Given the description of an element on the screen output the (x, y) to click on. 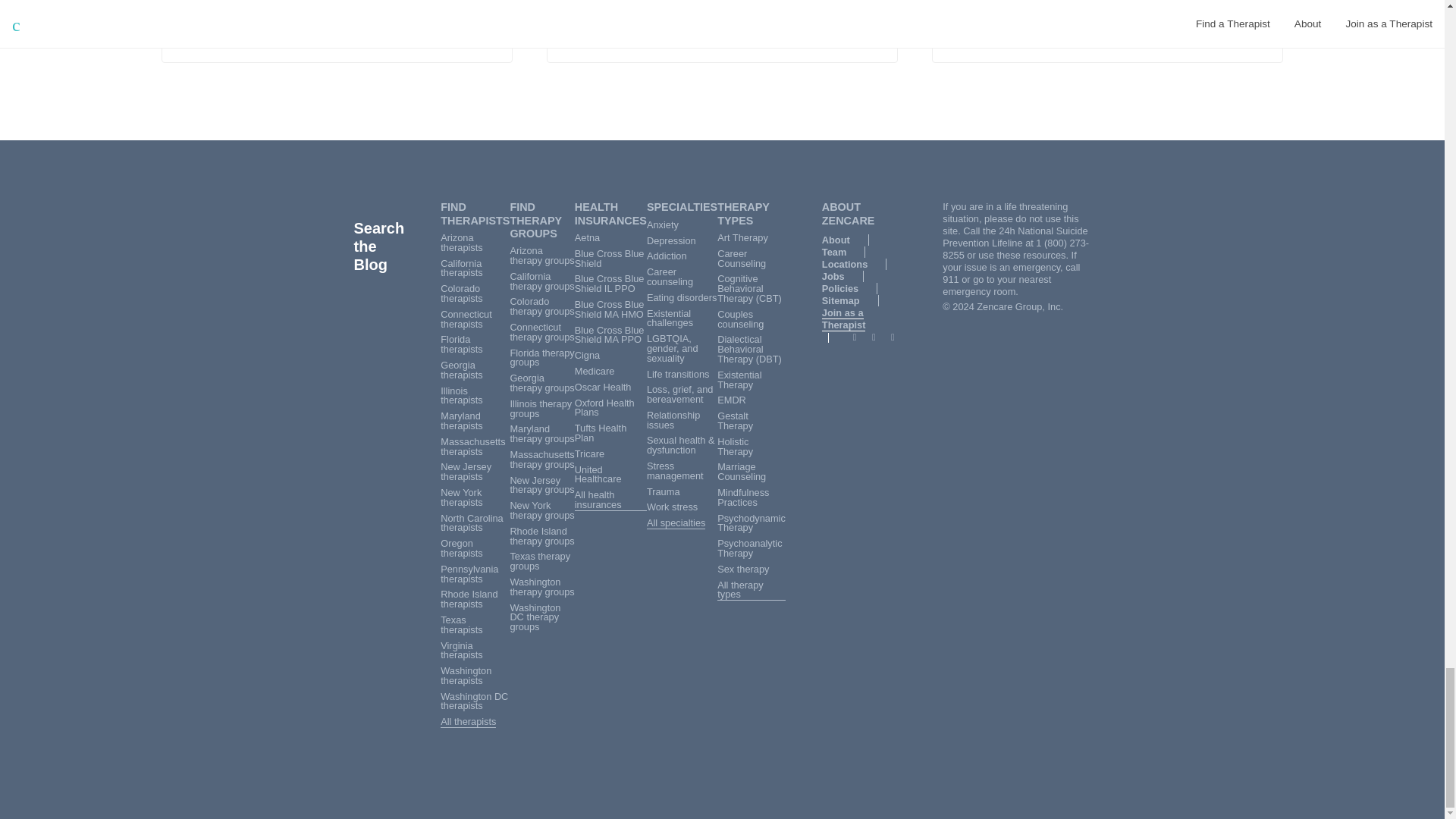
Zencare team (216, 30)
Jane Hesser, LICSW (1012, 37)
Jenna Zimmerman (192, 30)
Jane Hesser, LICSW (628, 37)
Jenna Zimmerman (192, 29)
Zencare team (216, 29)
